Given the description of an element on the screen output the (x, y) to click on. 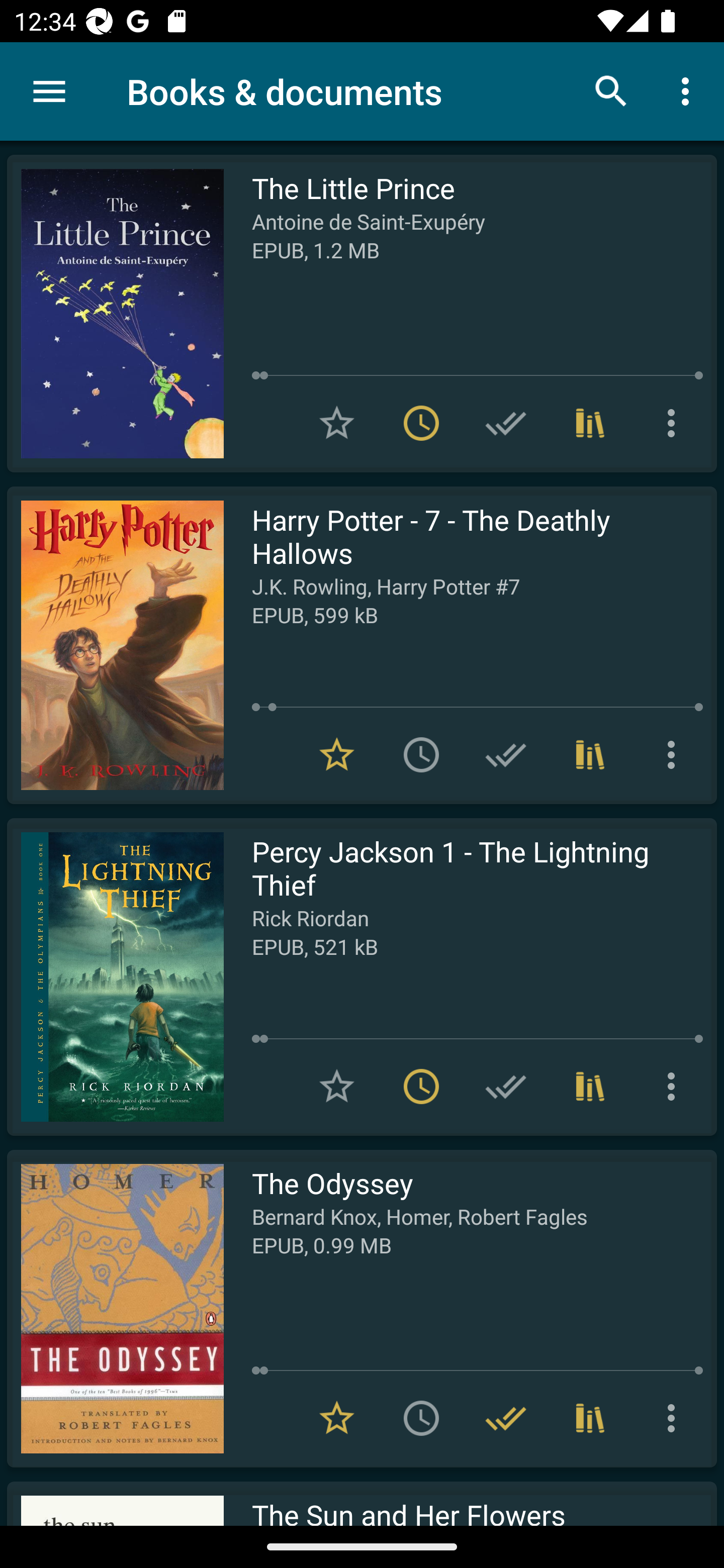
Menu (49, 91)
Search books & documents (611, 90)
More options (688, 90)
Read The Little Prince (115, 313)
Add to Favorites (336, 423)
Remove from To read (421, 423)
Add to Have read (505, 423)
Collections (1) (590, 423)
More options (674, 423)
Read Harry Potter - 7 - The Deathly Hallows (115, 645)
Remove from Favorites (336, 753)
Add to To read (421, 753)
Add to Have read (505, 753)
Collections (3) (590, 753)
More options (674, 753)
Read Percy Jackson 1 - The Lightning Thief (115, 976)
Add to Favorites (336, 1086)
